Given the description of an element on the screen output the (x, y) to click on. 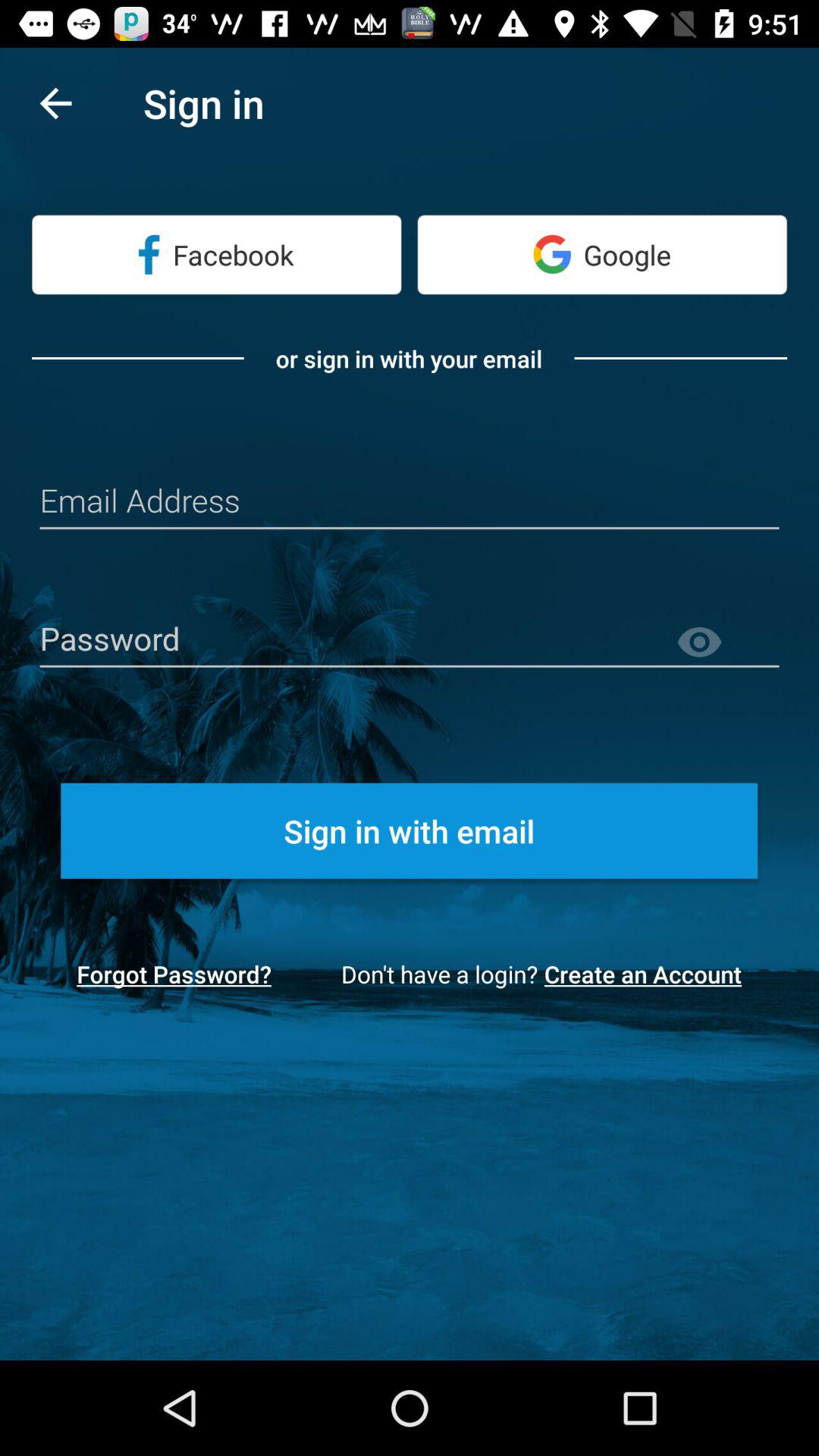
turn off icon on the right (727, 642)
